Given the description of an element on the screen output the (x, y) to click on. 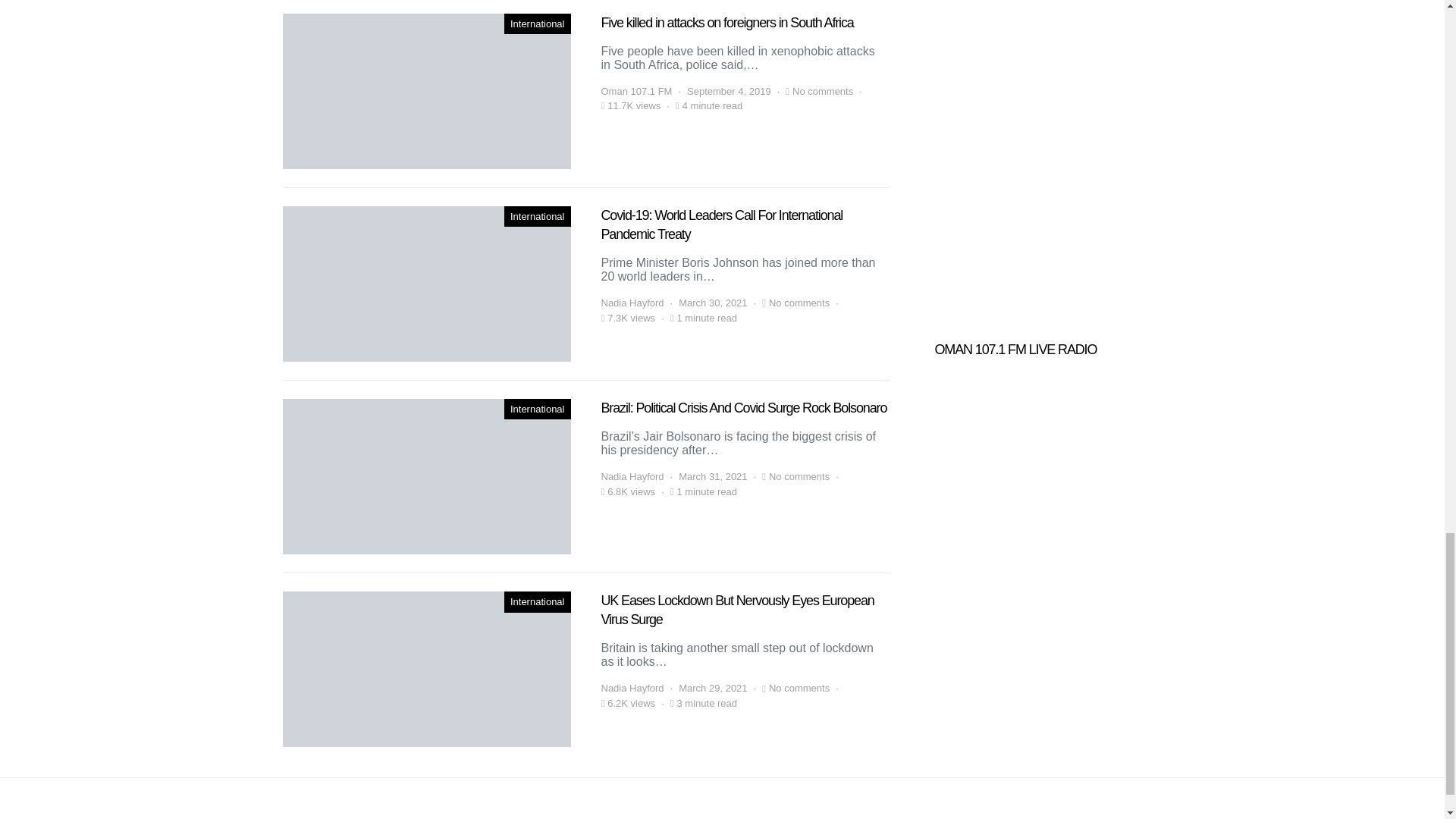
View all posts by Nadia Hayford (631, 303)
View all posts by Nadia Hayford (631, 688)
View all posts by Oman 107.1 FM (635, 91)
View all posts by Nadia Hayford (631, 476)
